Given the description of an element on the screen output the (x, y) to click on. 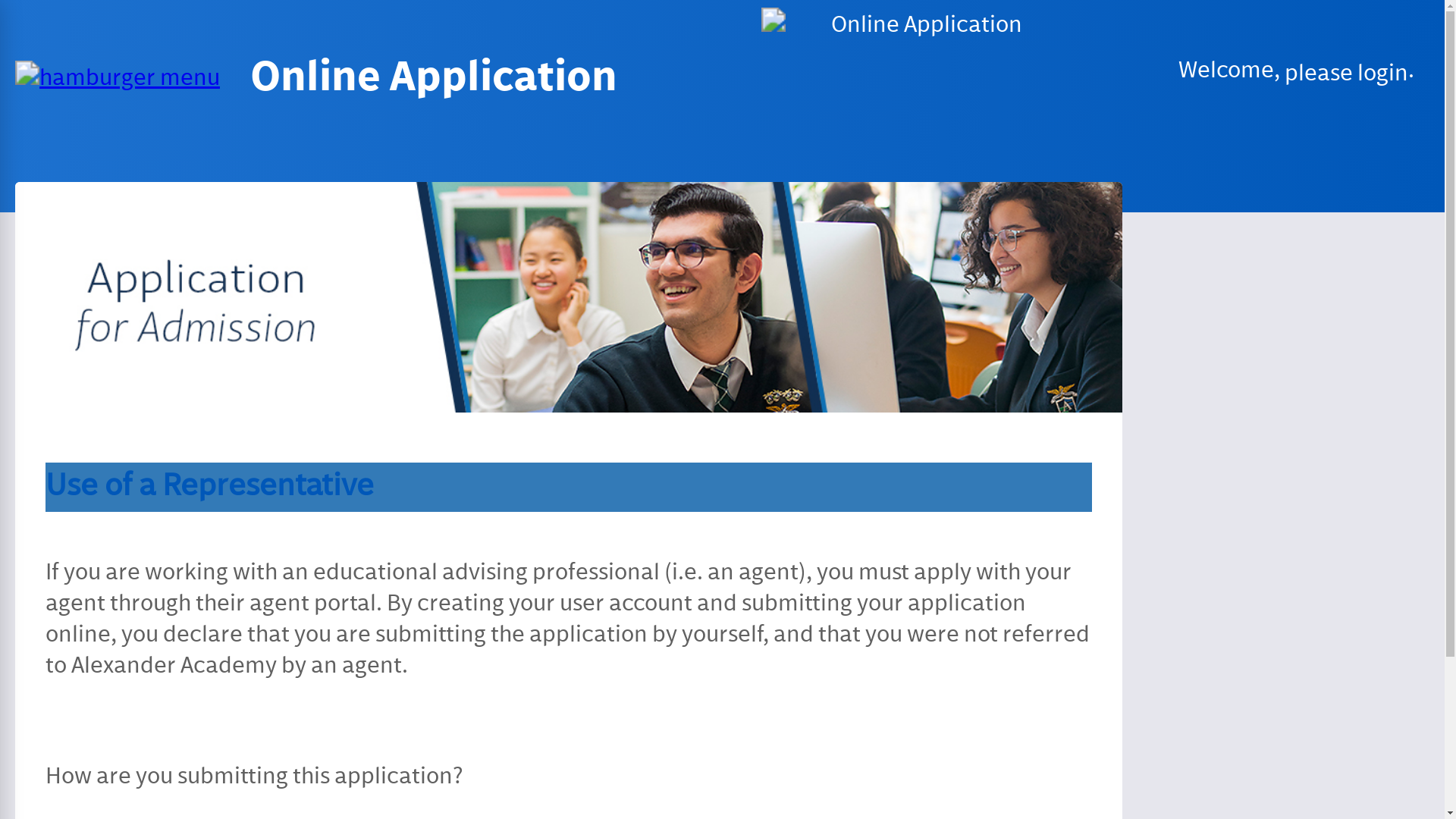
please login Element type: text (673, 35)
Online Application Element type: text (470, 11)
